Given the description of an element on the screen output the (x, y) to click on. 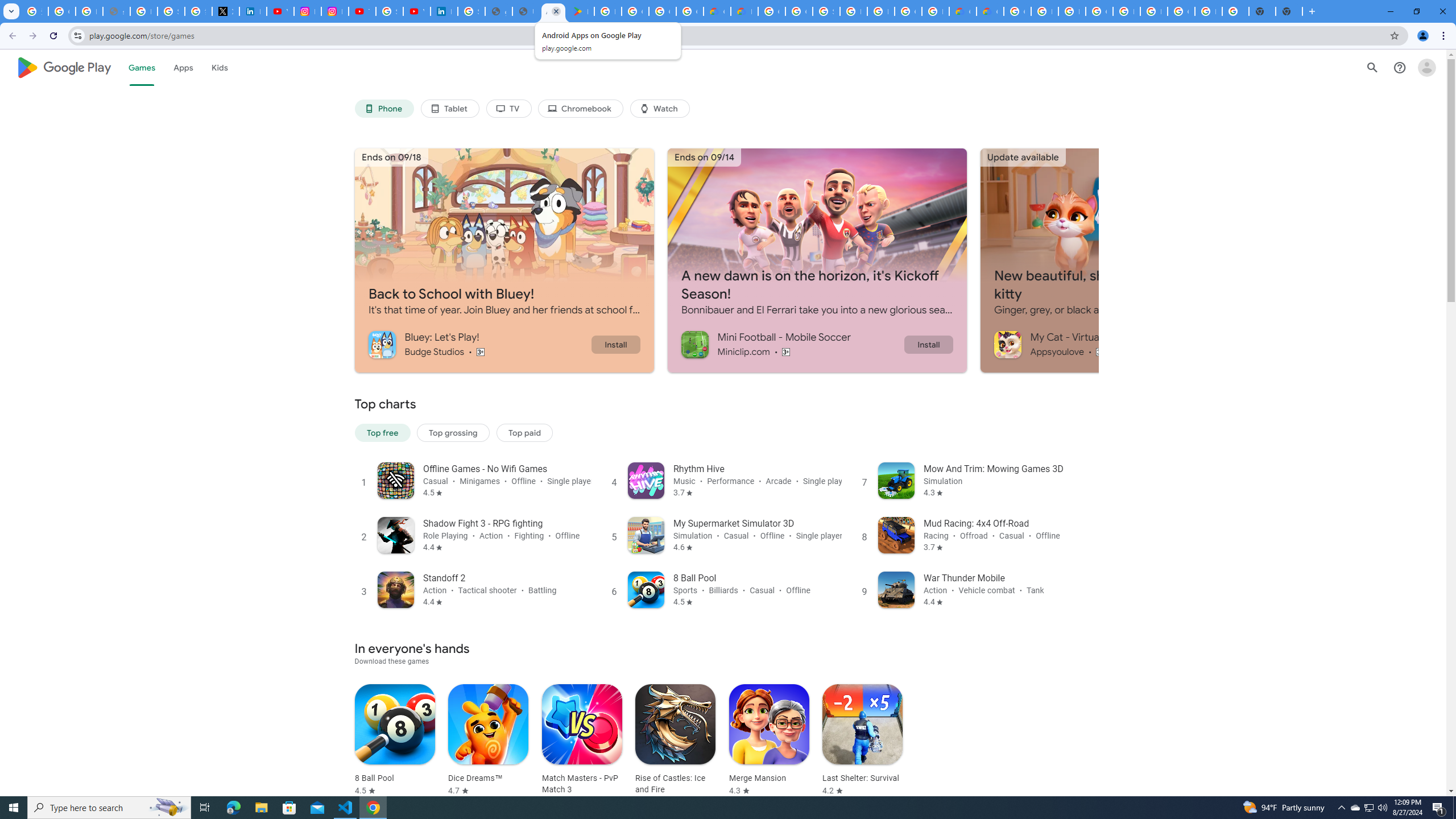
Privacy Help Center - Policies Help (144, 11)
Google Cloud Platform (908, 11)
Sign in - Google Accounts (826, 11)
X (225, 11)
Google Workspace - Specific Terms (690, 11)
Watch (660, 108)
Google Play logo (64, 67)
